Given the description of an element on the screen output the (x, y) to click on. 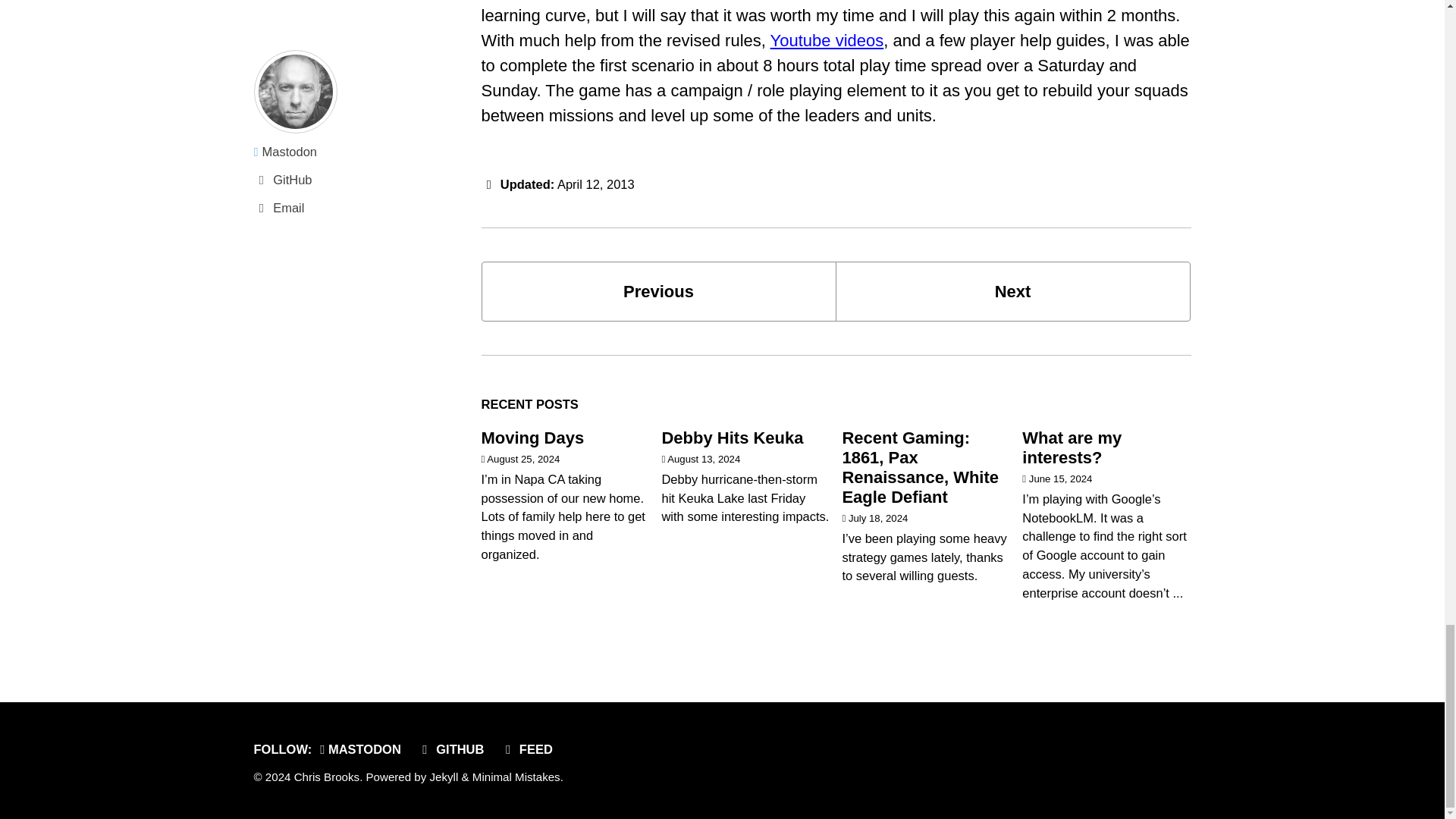
Youtube videos (826, 40)
Moving Days (657, 291)
Next (531, 437)
Debby Hits Keuka (1013, 291)
Recent Gaming: 1861, Pax Renaissance, White Eagle Defiant (1013, 291)
Previous (732, 437)
